Given the description of an element on the screen output the (x, y) to click on. 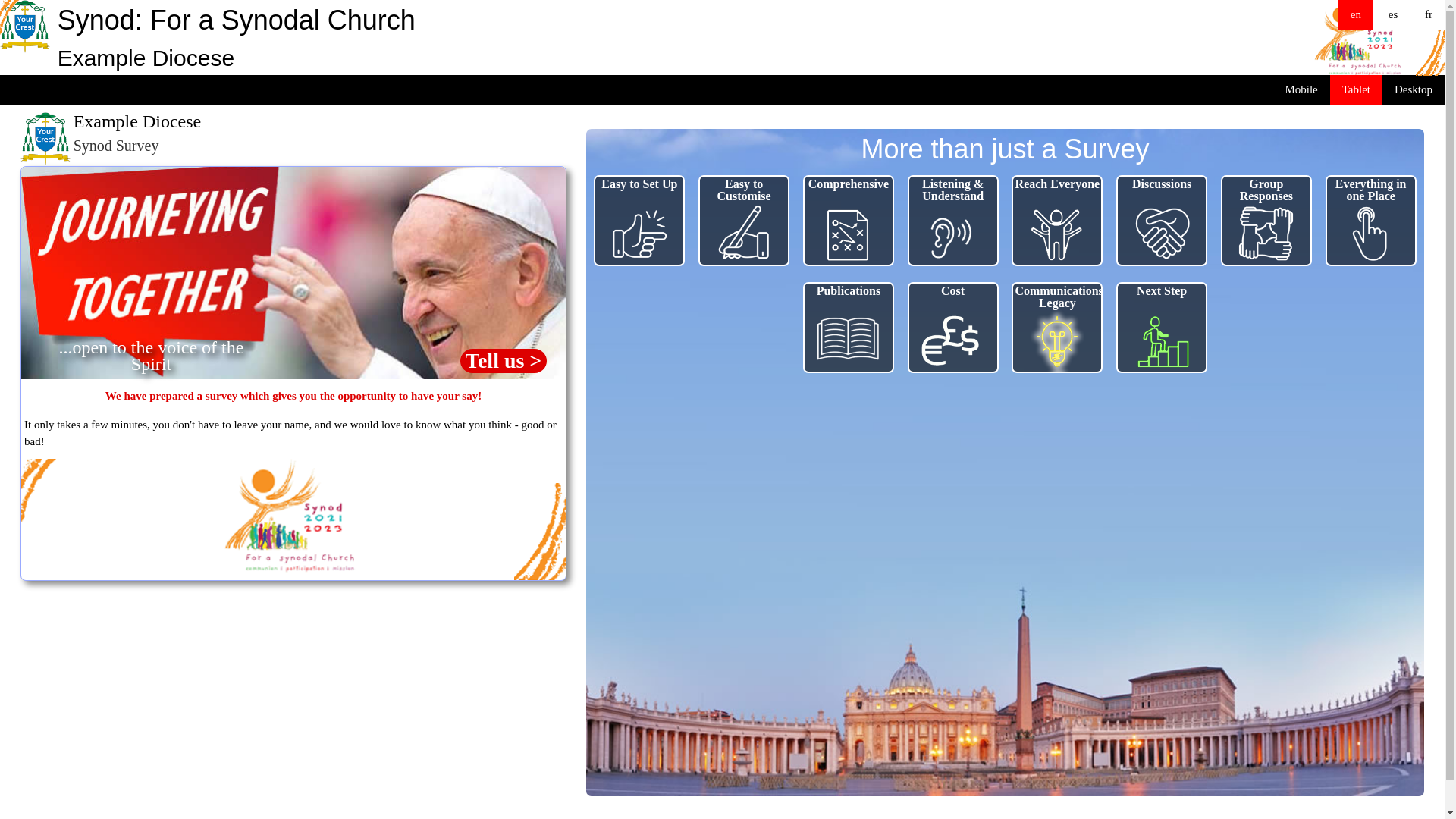
Edit the Survey Element type: text (898, 470)
Responses Element type: text (887, 470)
x Element type: text (244, 366)
Management Site Element type: text (903, 470)
Desktop Element type: text (1413, 89)
Example Diocese Element type: hover (45, 138)
Synod 2021-2023: For a Synodal Church Element type: hover (290, 514)
Tablet Element type: text (1356, 89)
Tell us > Element type: text (503, 360)
Instructions Element type: text (890, 470)
en Element type: text (1355, 14)
es Element type: text (1393, 14)
Mobile Element type: text (1300, 89)
Example Diocese Element type: hover (25, 26)
fr Element type: text (1428, 14)
